Given the description of an element on the screen output the (x, y) to click on. 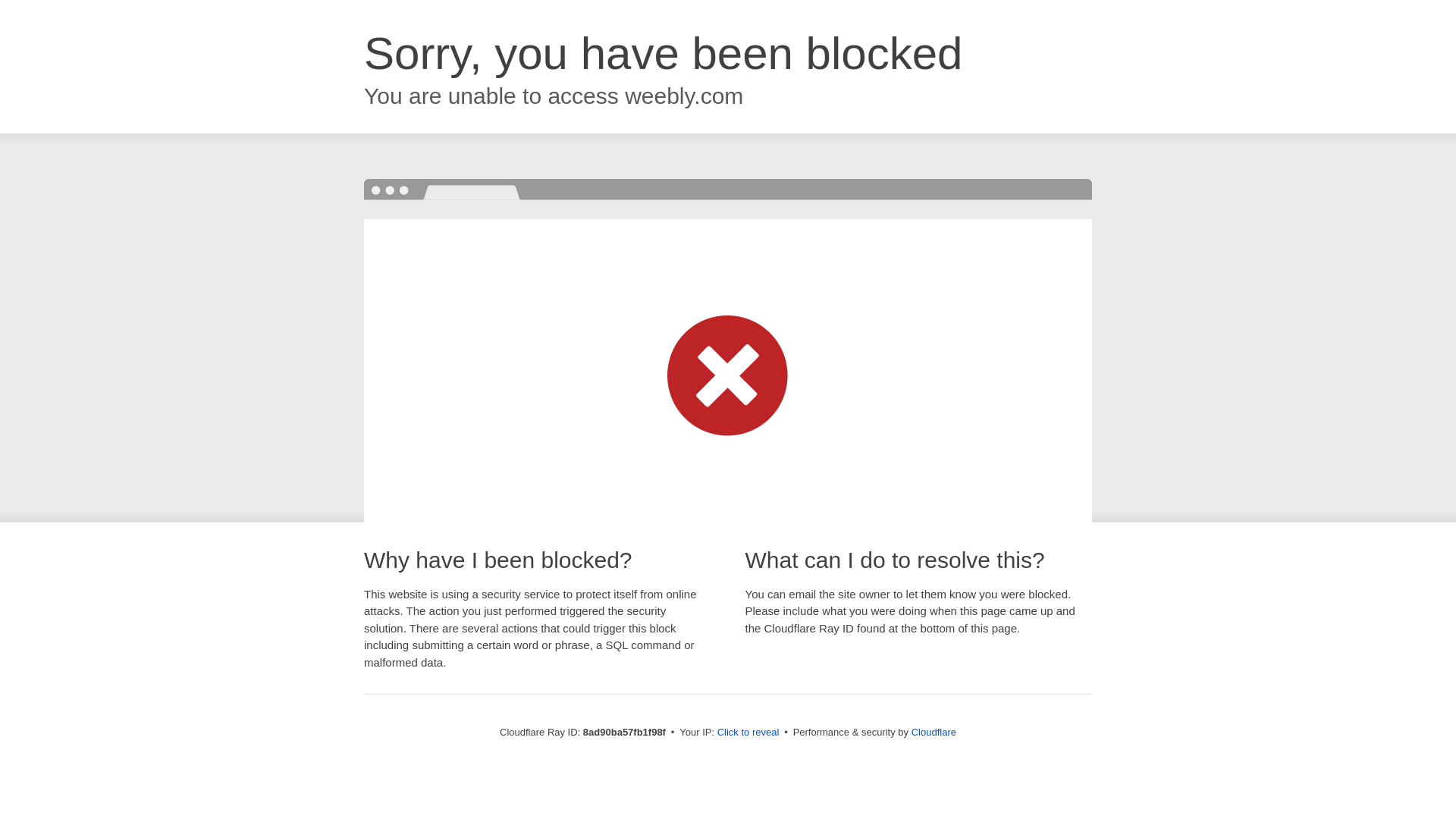
Cloudflare (933, 731)
Click to reveal (747, 732)
